Given the description of an element on the screen output the (x, y) to click on. 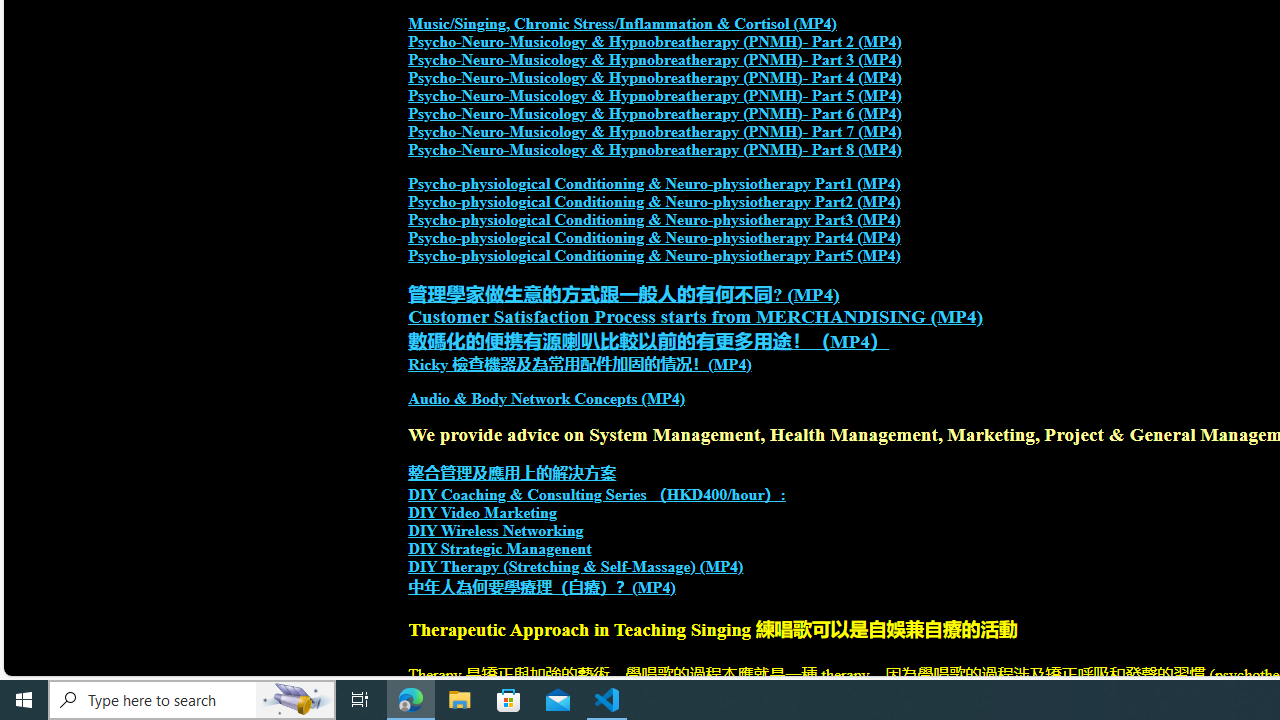
Music/Singing, Chronic Stress/Inflammation & Cortisol (MP4) (622, 24)
